Given the description of an element on the screen output the (x, y) to click on. 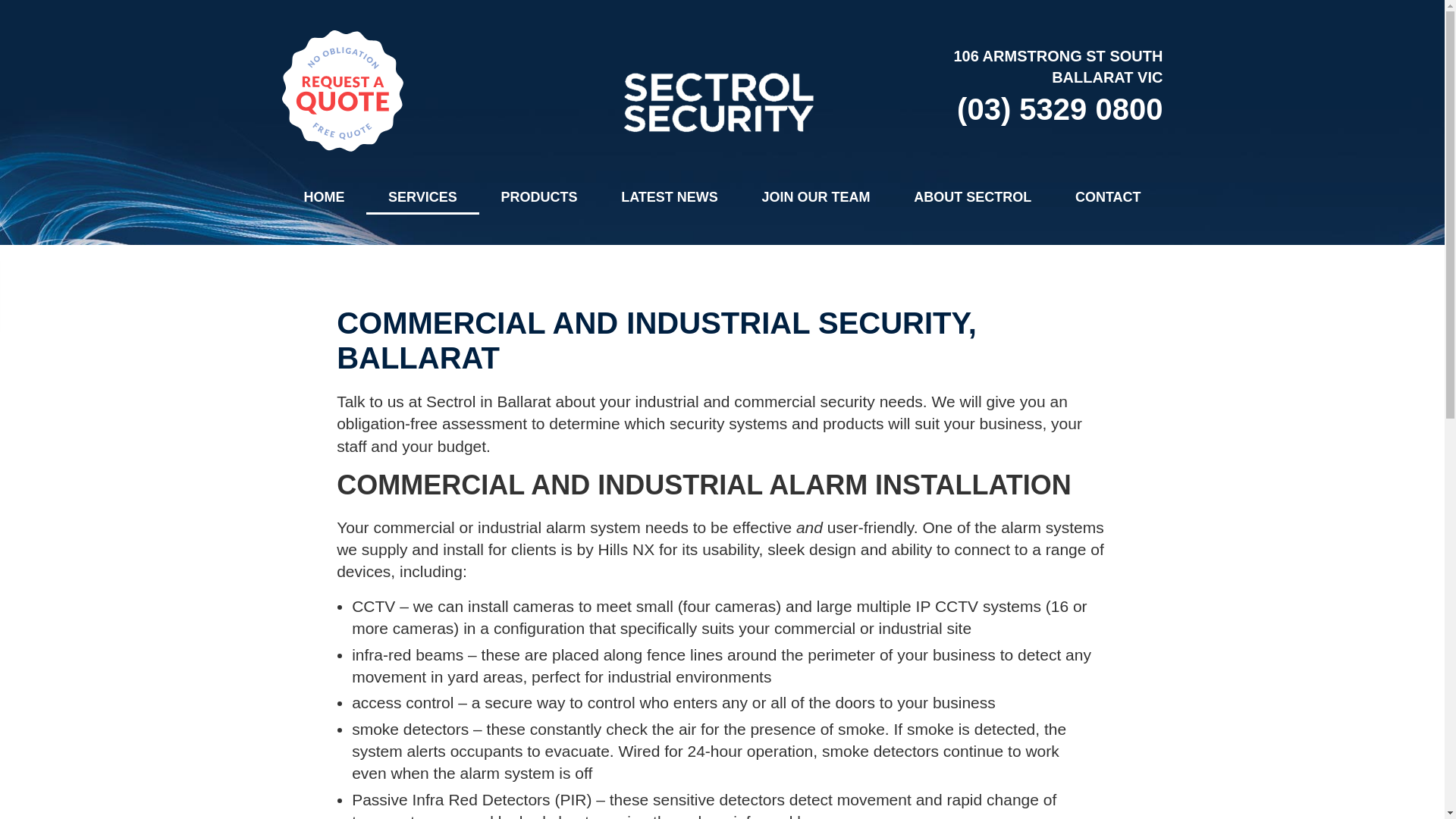
JOIN OUR TEAM (815, 196)
ABOUT SECTROL (971, 196)
PRODUCTS (539, 196)
HOME (324, 196)
SERVICES (422, 196)
LATEST NEWS (668, 196)
